Given the description of an element on the screen output the (x, y) to click on. 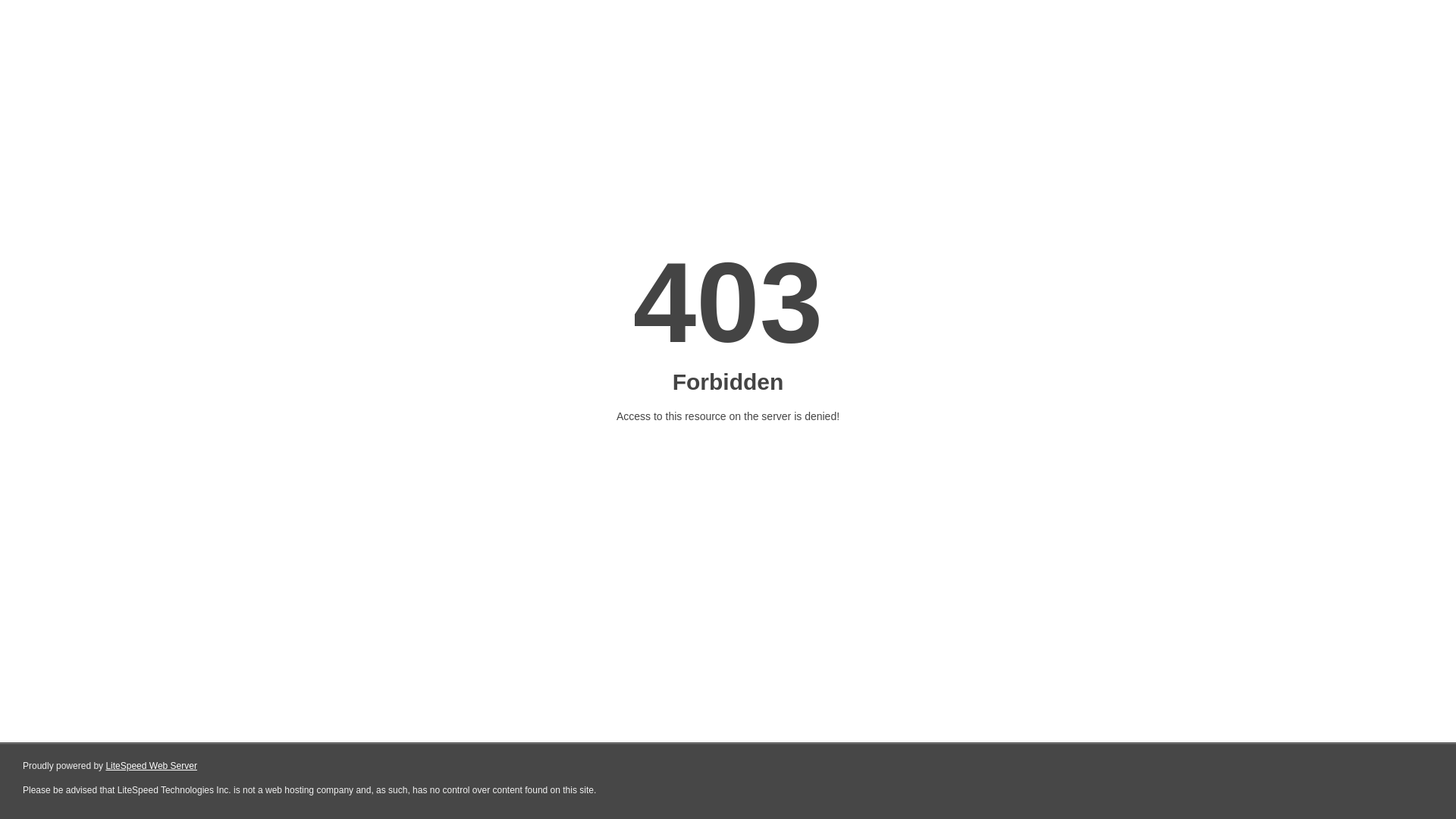
LiteSpeed Web Server Element type: text (151, 765)
